Given the description of an element on the screen output the (x, y) to click on. 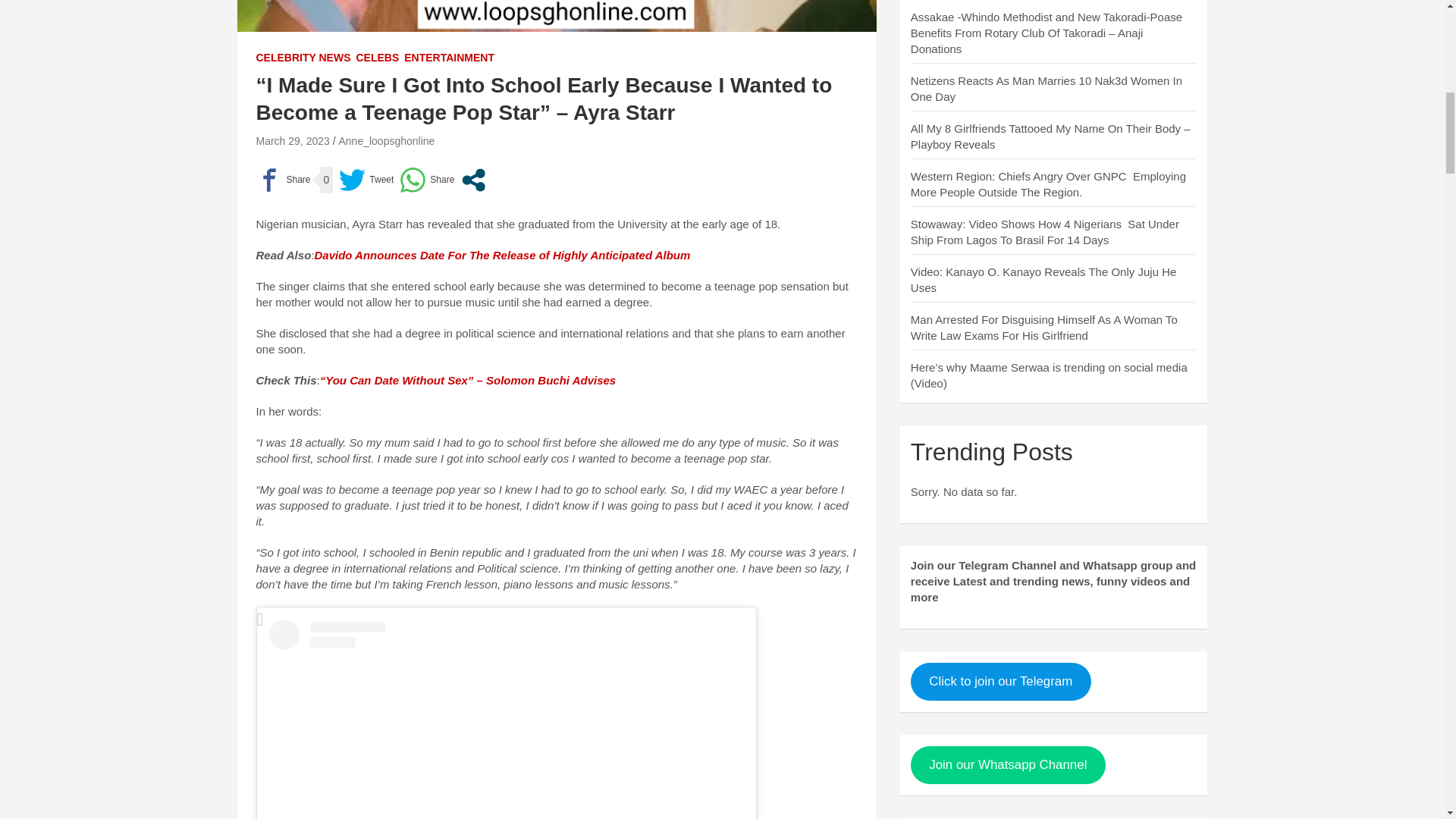
Tweet (366, 180)
Share on Facebook (283, 180)
Share on WhatsApp (426, 180)
ENTERTAINMENT (449, 58)
March 29, 2023 (293, 141)
CELEBRITY NEWS (303, 58)
Open modal social networks (473, 180)
CELEBS (376, 58)
